Given the description of an element on the screen output the (x, y) to click on. 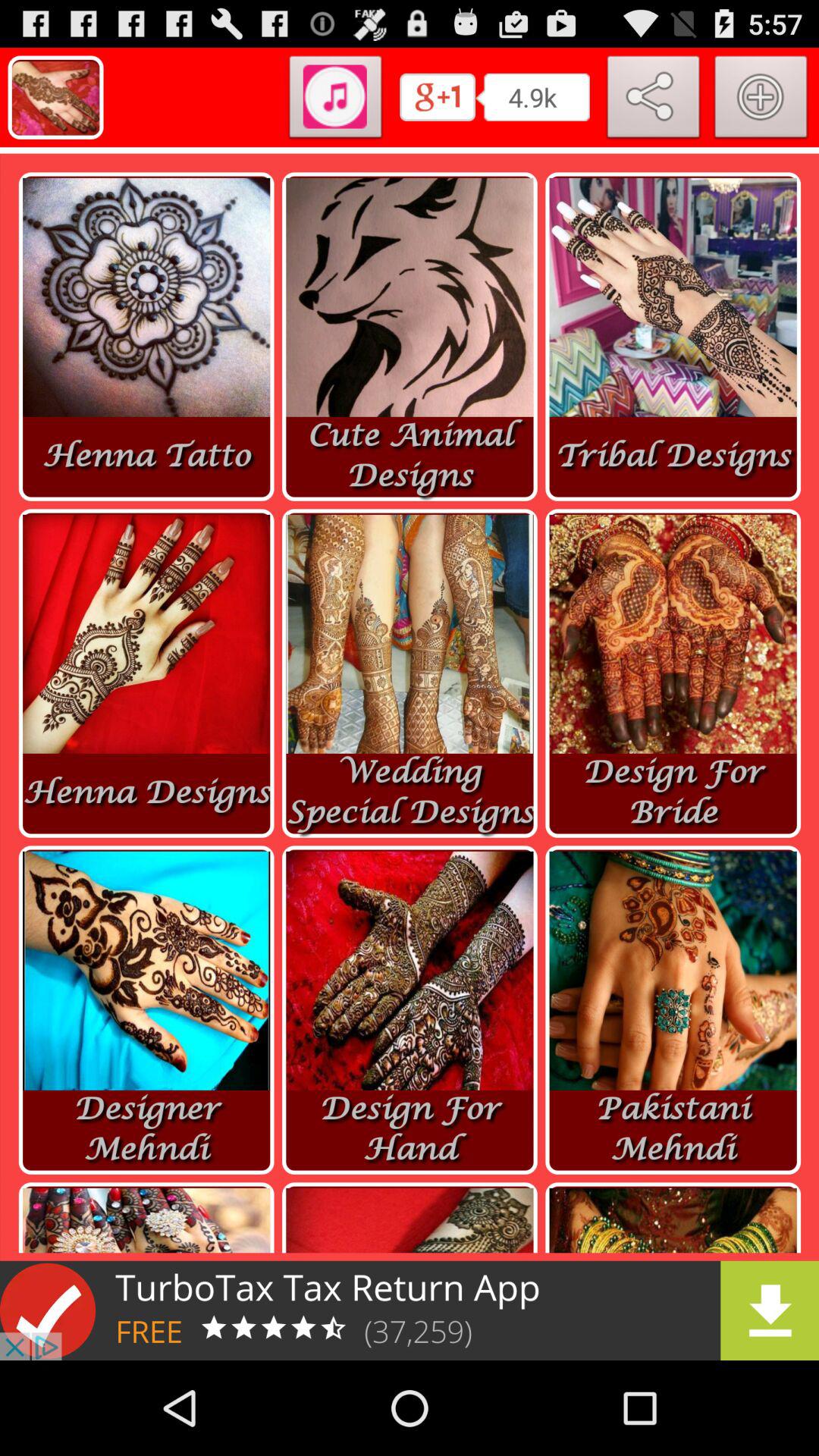
downloading (409, 1310)
